Given the description of an element on the screen output the (x, y) to click on. 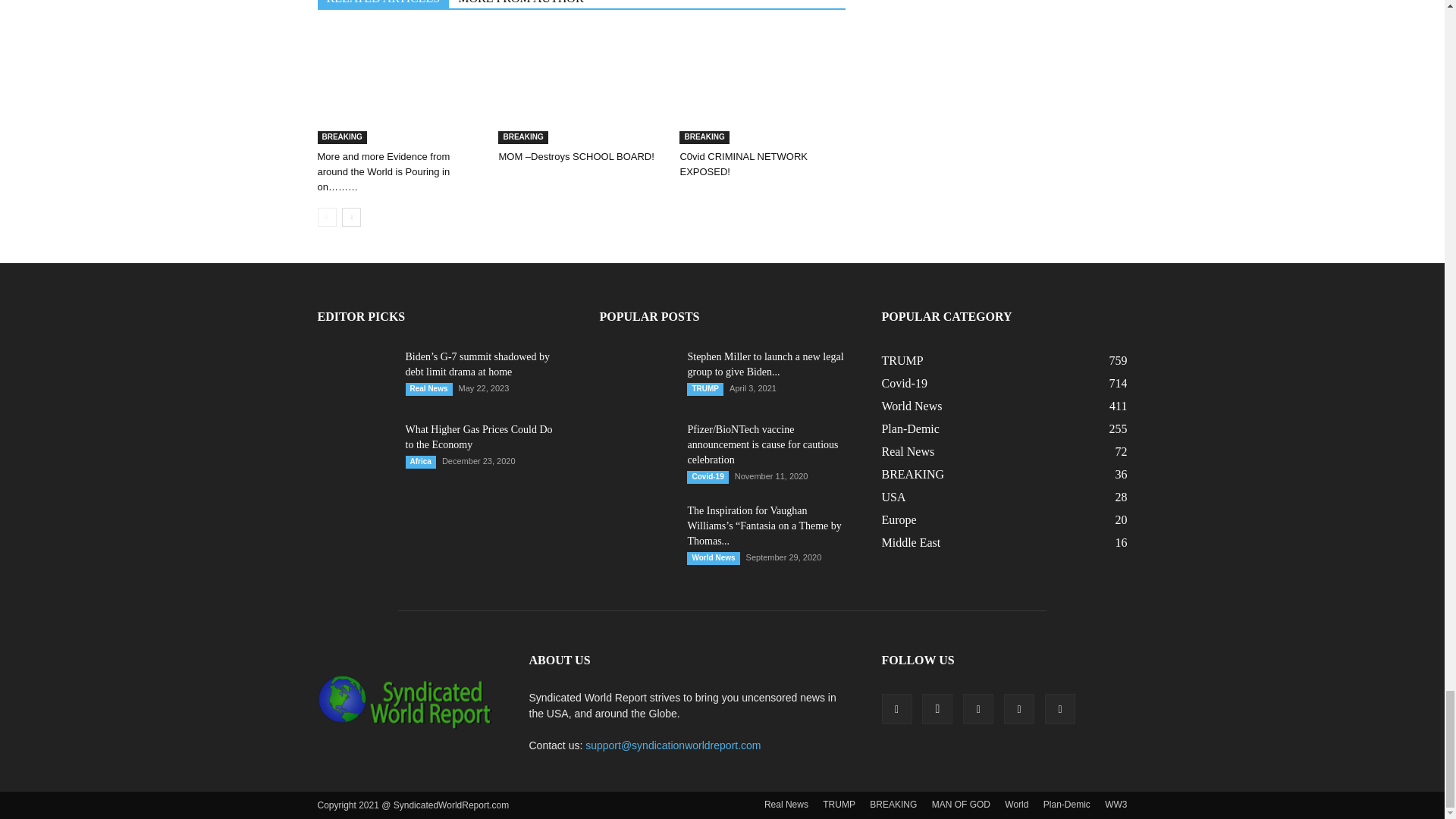
C0vid CRIMINAL NETWORK EXPOSED! (761, 87)
C0vid CRIMINAL NETWORK EXPOSED! (743, 163)
